Given the description of an element on the screen output the (x, y) to click on. 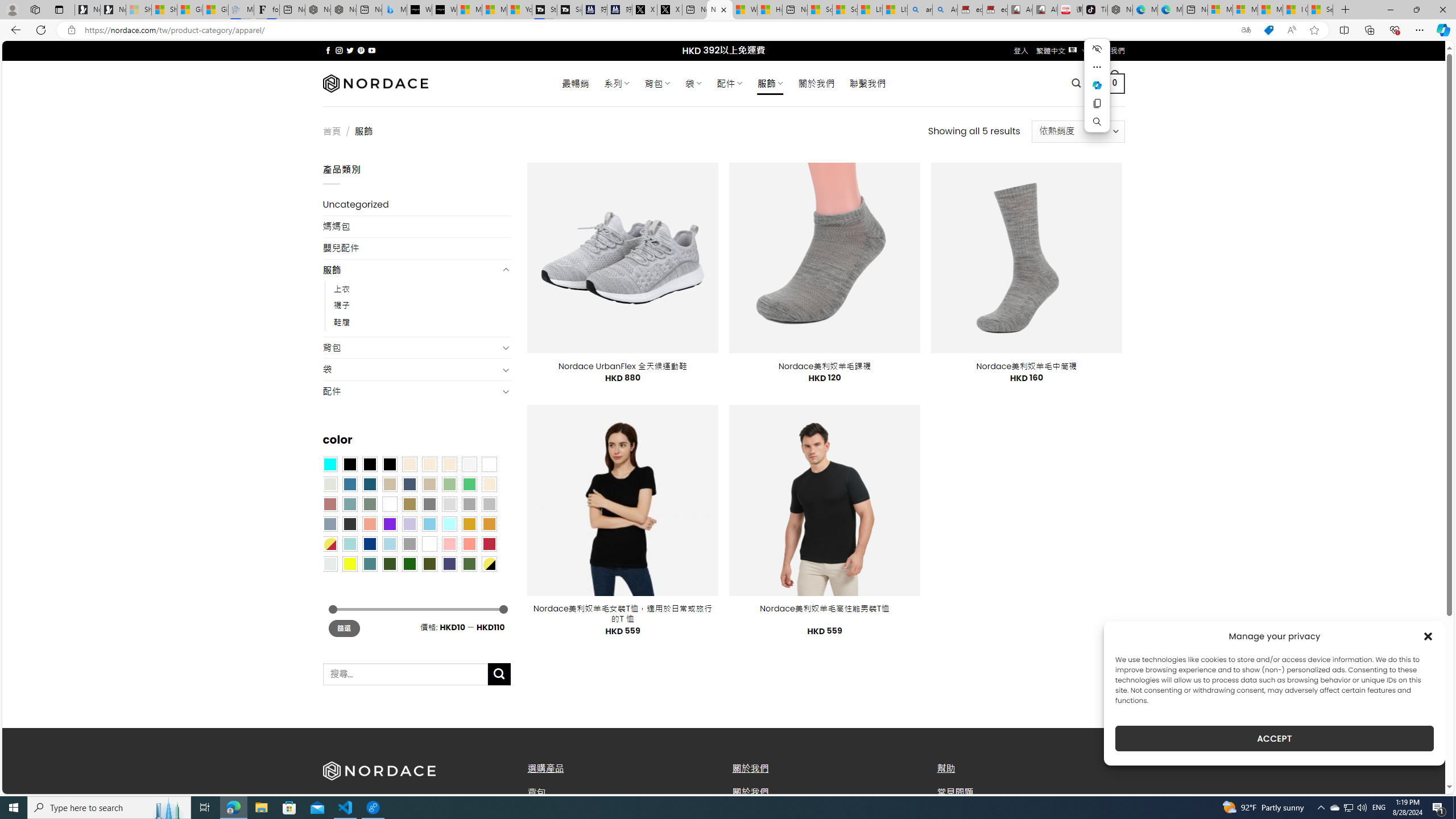
Wildlife - MSN (744, 9)
Follow on Pinterest (360, 50)
Copilot (Ctrl+Shift+.) (1442, 29)
Mini menu on text selection (1096, 91)
Browser essentials (1394, 29)
Personal Profile (12, 9)
Go to top (1421, 777)
Follow on Instagram (338, 50)
New tab (1194, 9)
